Given the description of an element on the screen output the (x, y) to click on. 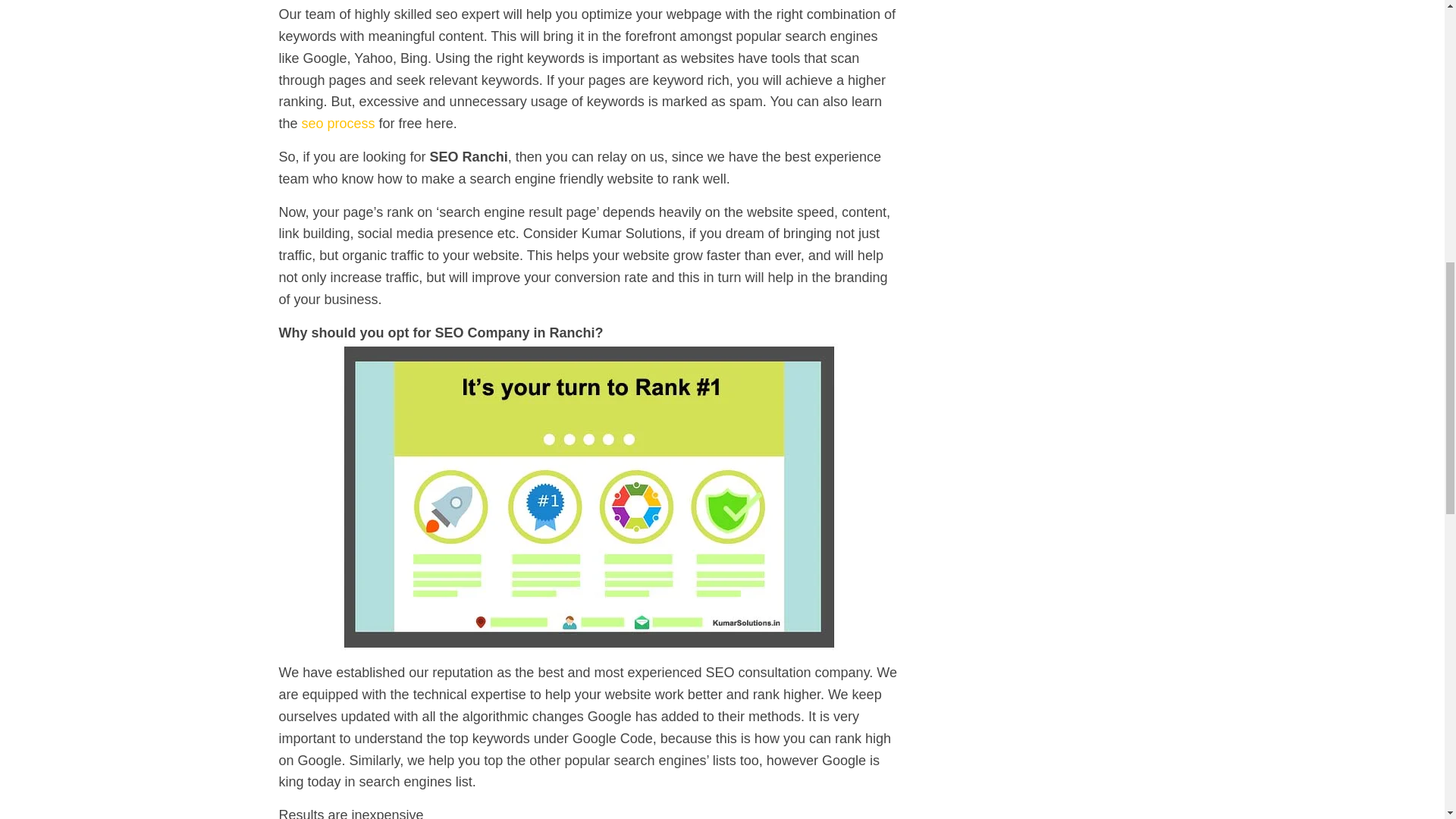
seo process (338, 123)
